Given the description of an element on the screen output the (x, y) to click on. 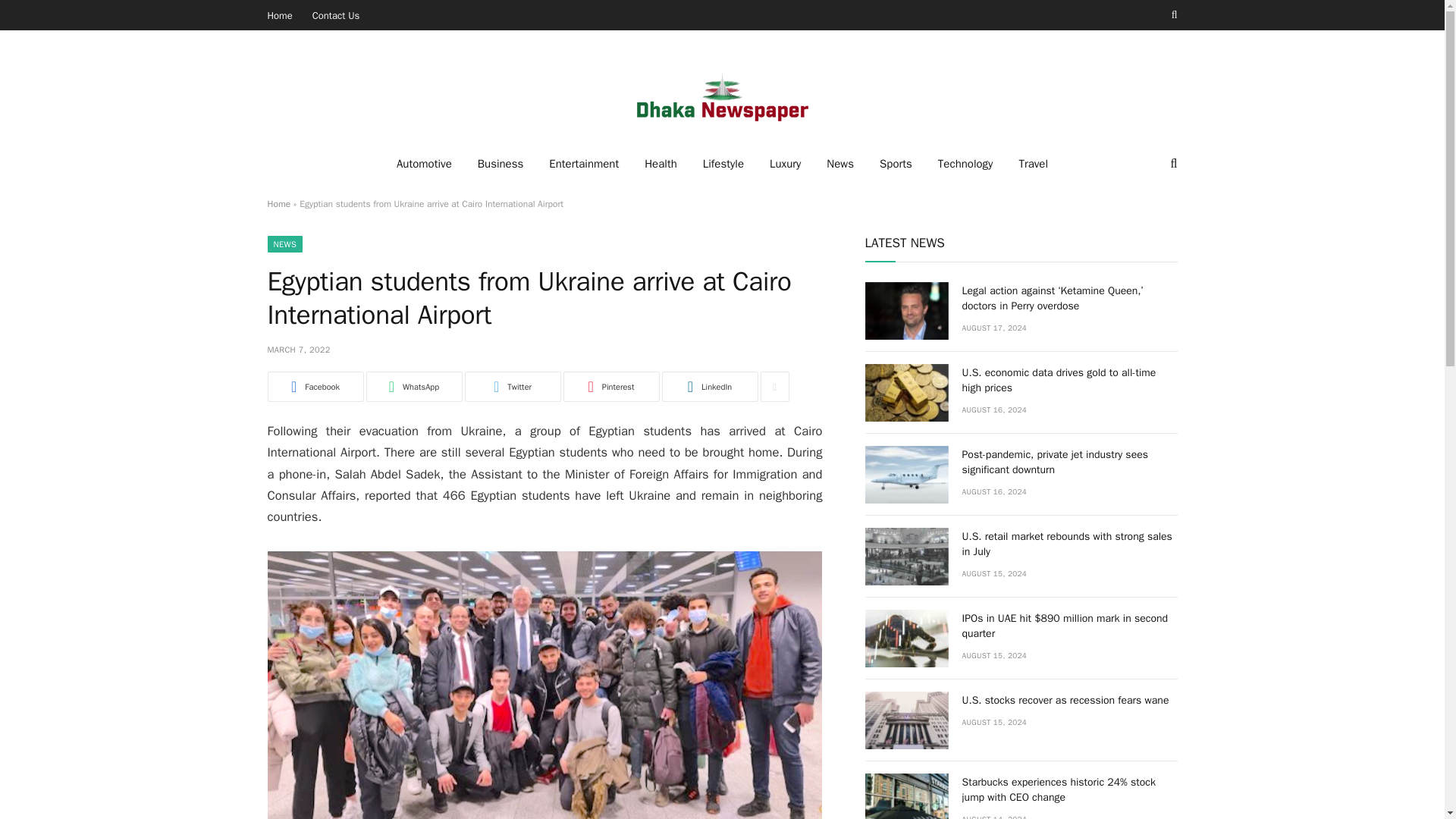
Business (500, 163)
Share on Pinterest (610, 386)
Home (279, 15)
Share on LinkedIn (709, 386)
WhatsApp (413, 386)
Contact Us (335, 15)
Dhaka Newspaper (721, 94)
Share on WhatsApp (413, 386)
Travel (1033, 163)
LinkedIn (709, 386)
